Given the description of an element on the screen output the (x, y) to click on. 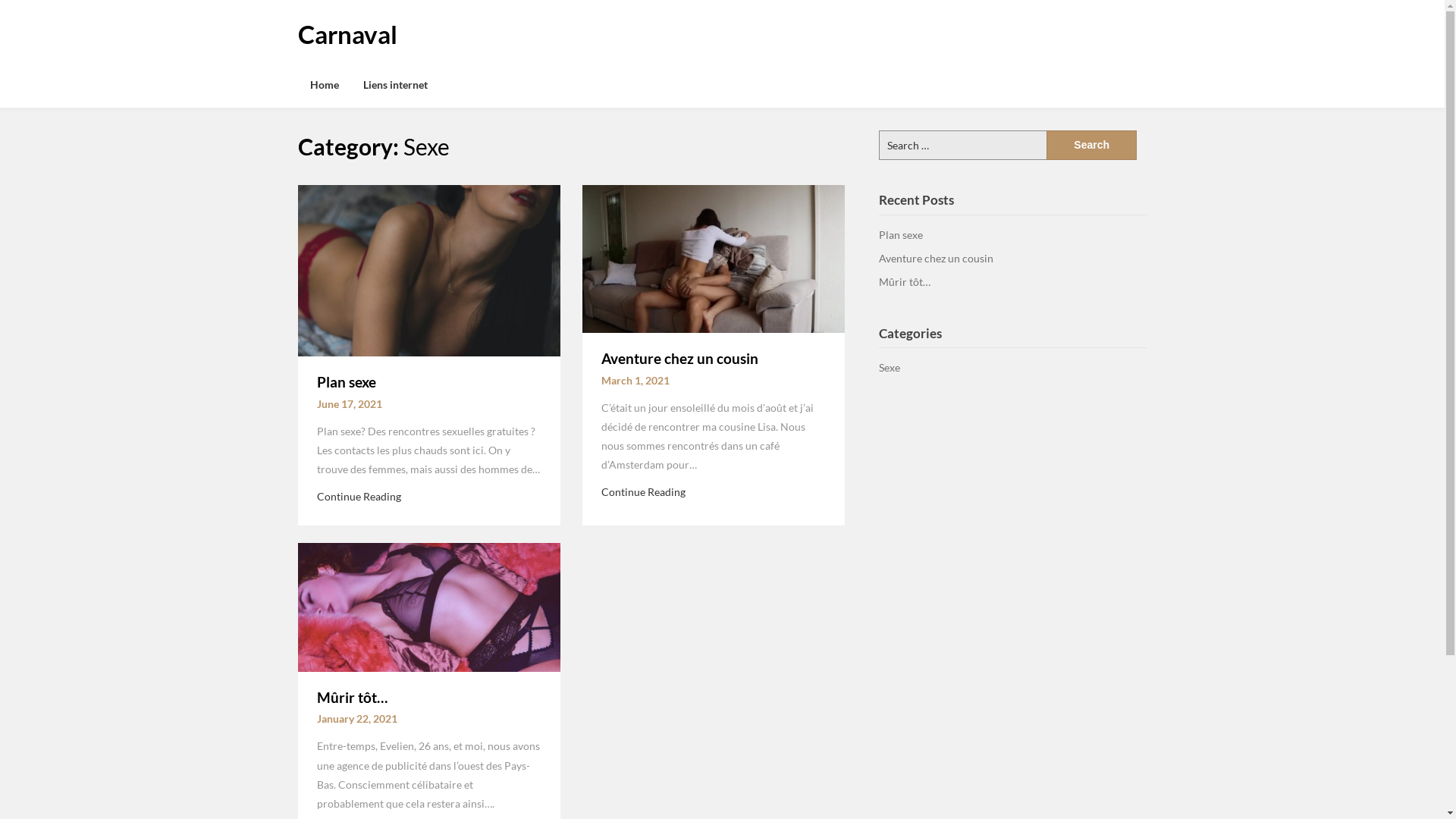
Home Element type: text (323, 84)
Continue Reading Element type: text (643, 491)
Plan sexe Element type: text (900, 234)
Continue Reading Element type: text (358, 496)
Aventure chez un cousin Element type: text (679, 358)
Plan sexe Element type: hover (428, 269)
Plan sexe Element type: text (346, 381)
Search Element type: text (1091, 145)
Aventure chez un cousin Element type: text (935, 257)
Carnaval Element type: text (346, 33)
Sexe Element type: text (889, 366)
Aventure chez un cousin Element type: hover (713, 257)
Liens internet Element type: text (394, 84)
